Given the description of an element on the screen output the (x, y) to click on. 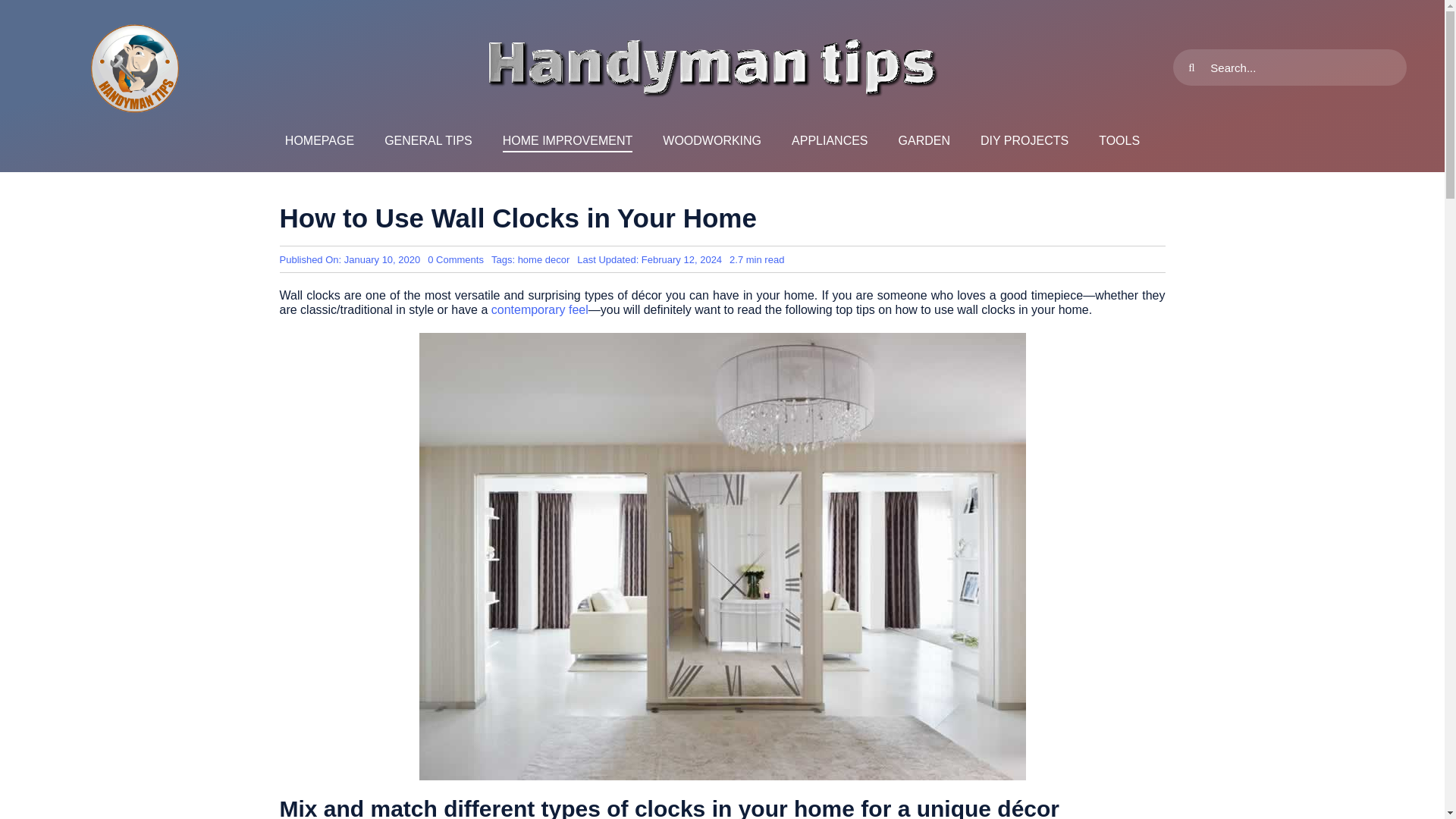
HOMEPAGE (319, 141)
home decor (544, 259)
DIY PROJECTS (1023, 141)
TOOLS (1119, 141)
contemporary feel (540, 309)
WOODWORKING (711, 141)
GENERAL TIPS (427, 141)
APPLIANCES (829, 141)
HOME IMPROVEMENT (567, 141)
